Given the description of an element on the screen output the (x, y) to click on. 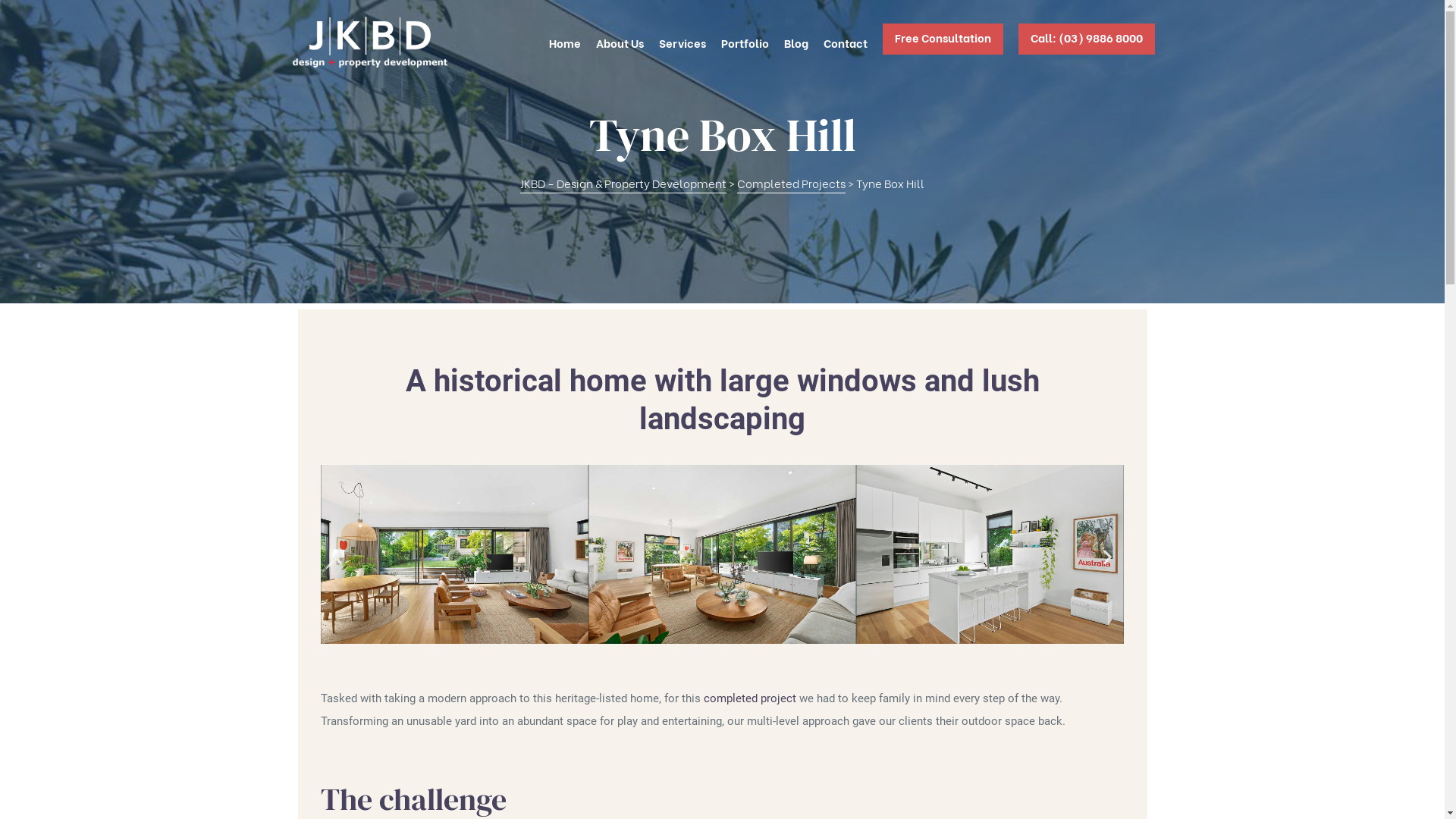
Portfolio Element type: text (744, 42)
Home Element type: text (564, 42)
Call: (03) 9886 8000 Element type: text (1085, 42)
Contact Element type: text (845, 42)
JKBD - Design & Property Development Element type: text (623, 183)
About Us Element type: text (619, 42)
Free Consultation Element type: text (942, 42)
completed project Element type: text (749, 698)
Blog Element type: text (796, 42)
Completed Projects Element type: text (791, 183)
Services Element type: text (681, 42)
